Given the description of an element on the screen output the (x, y) to click on. 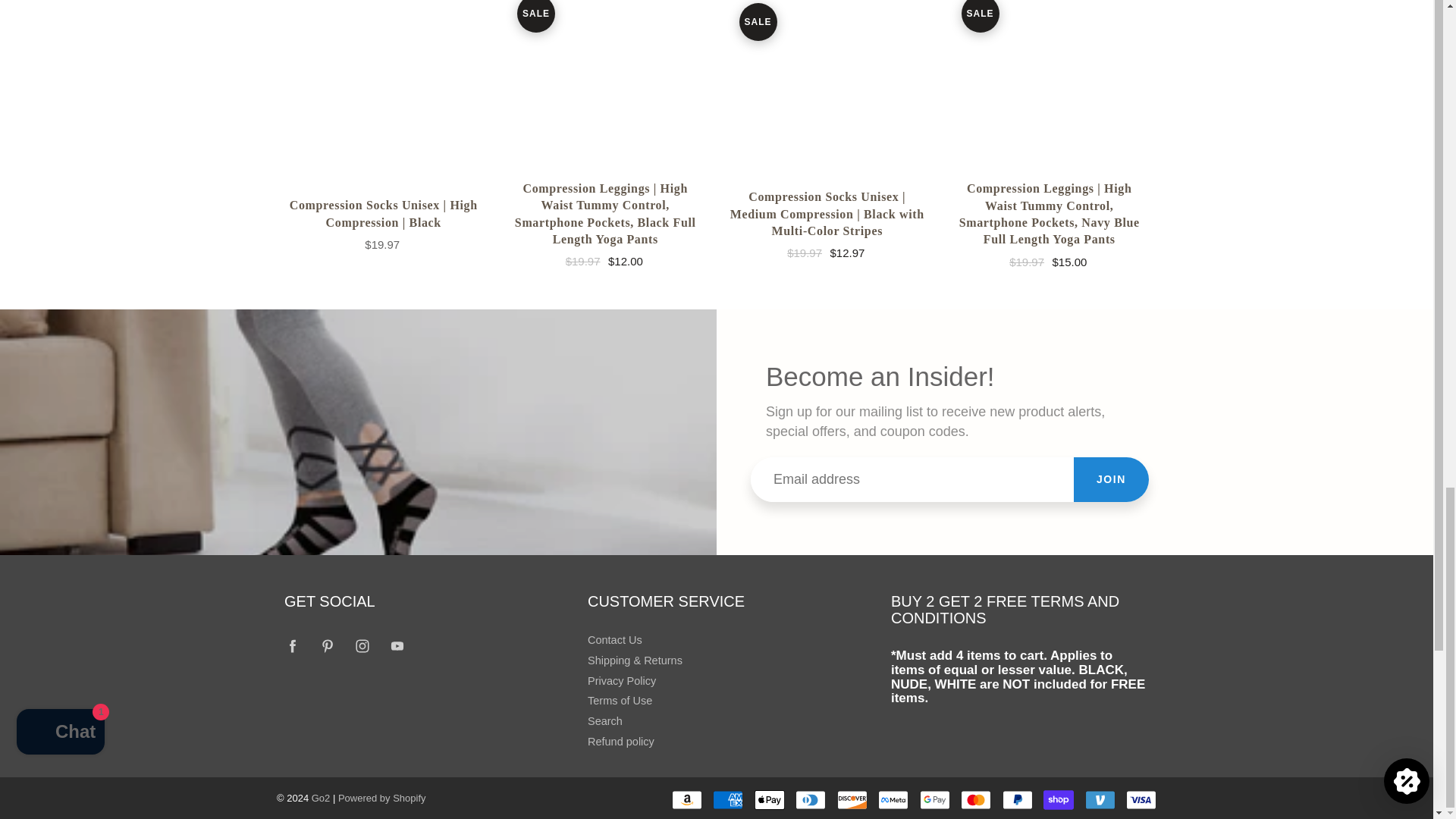
PayPal (1017, 799)
Venmo (1099, 799)
Google Pay (935, 799)
Diners Club (809, 799)
Shop Pay (1058, 799)
Amazon (686, 799)
Visa (1140, 799)
Meta Pay (892, 799)
American Express (727, 799)
Apple Pay (769, 799)
Mastercard (975, 799)
Discover (852, 799)
